Given the description of an element on the screen output the (x, y) to click on. 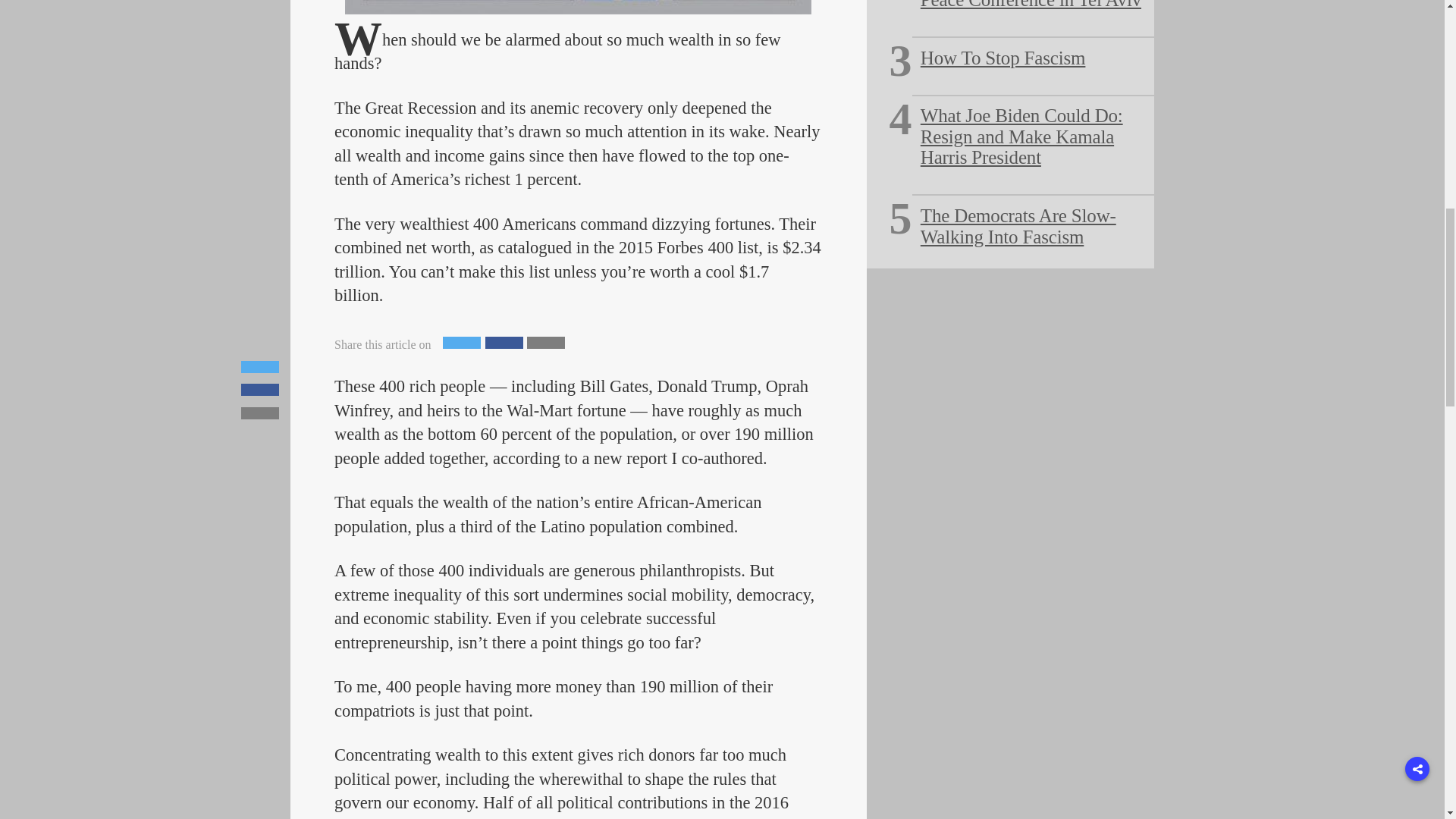
Facebook (503, 342)
Mail (545, 342)
Twitter (461, 342)
Twitter (461, 342)
Facebook (503, 342)
Mail (545, 342)
